Given the description of an element on the screen output the (x, y) to click on. 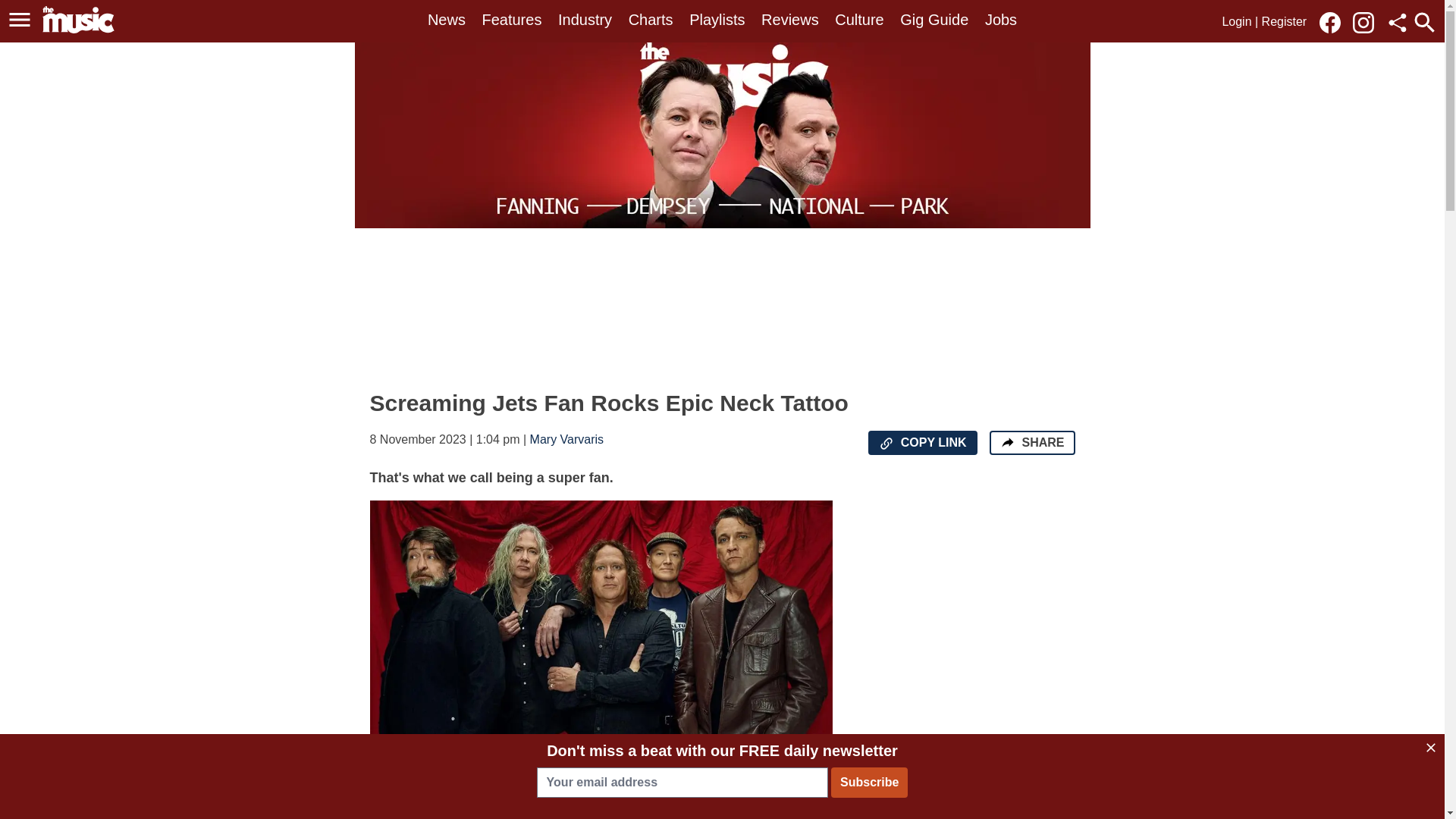
Open the site search menu (1424, 22)
Culture (858, 19)
Share this page (1397, 22)
Link to our Instagram (1363, 22)
Share this page (1397, 22)
Login (1235, 21)
Link to our Facebook (1329, 22)
Open the site search menu (1424, 22)
Gig Guide (933, 19)
Industry (584, 19)
